Given the description of an element on the screen output the (x, y) to click on. 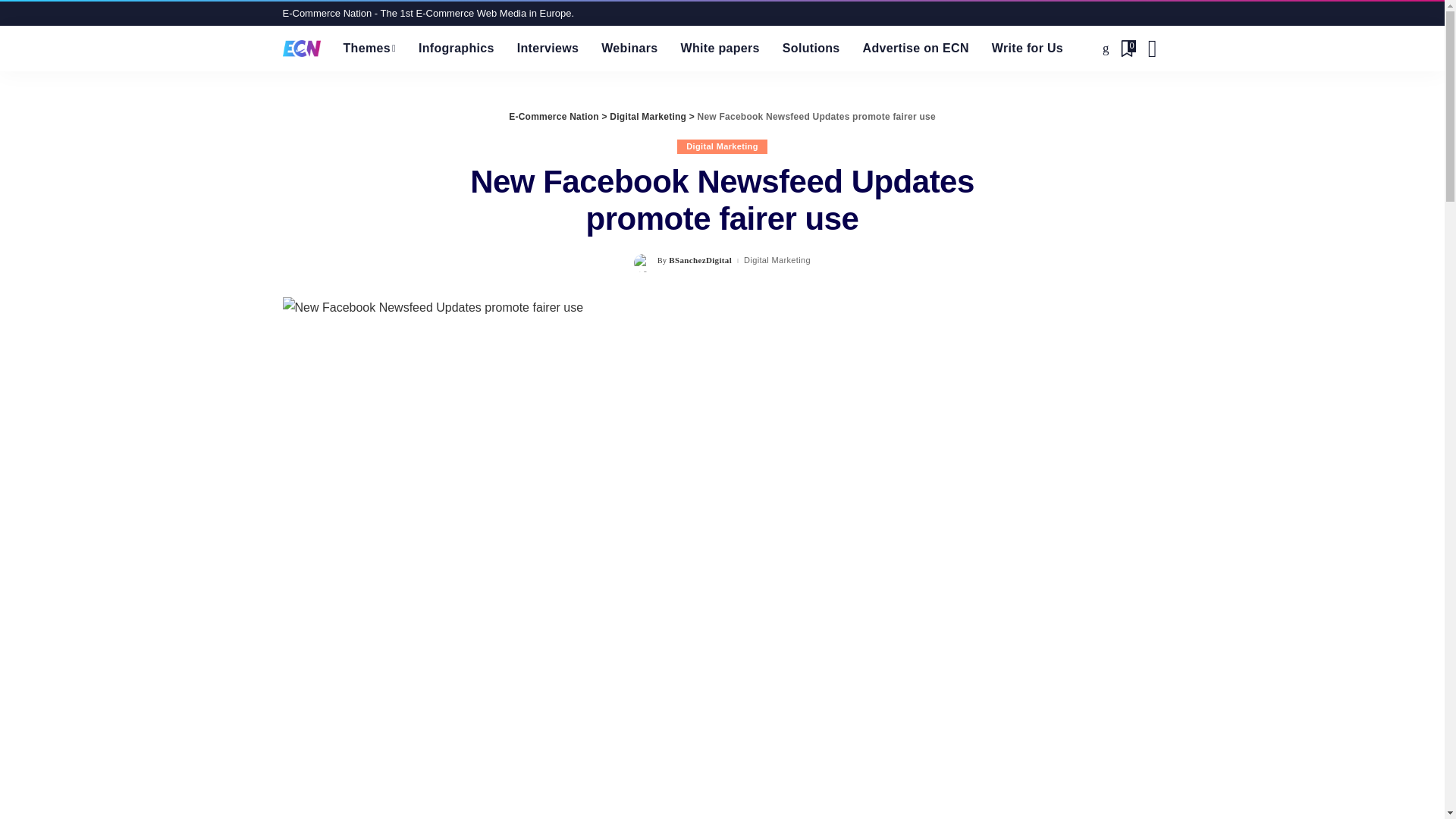
Go to the Digital Marketing category archives. (647, 116)
E-Commerce Nation (301, 48)
Go to E-Commerce Nation. (553, 116)
